Given the description of an element on the screen output the (x, y) to click on. 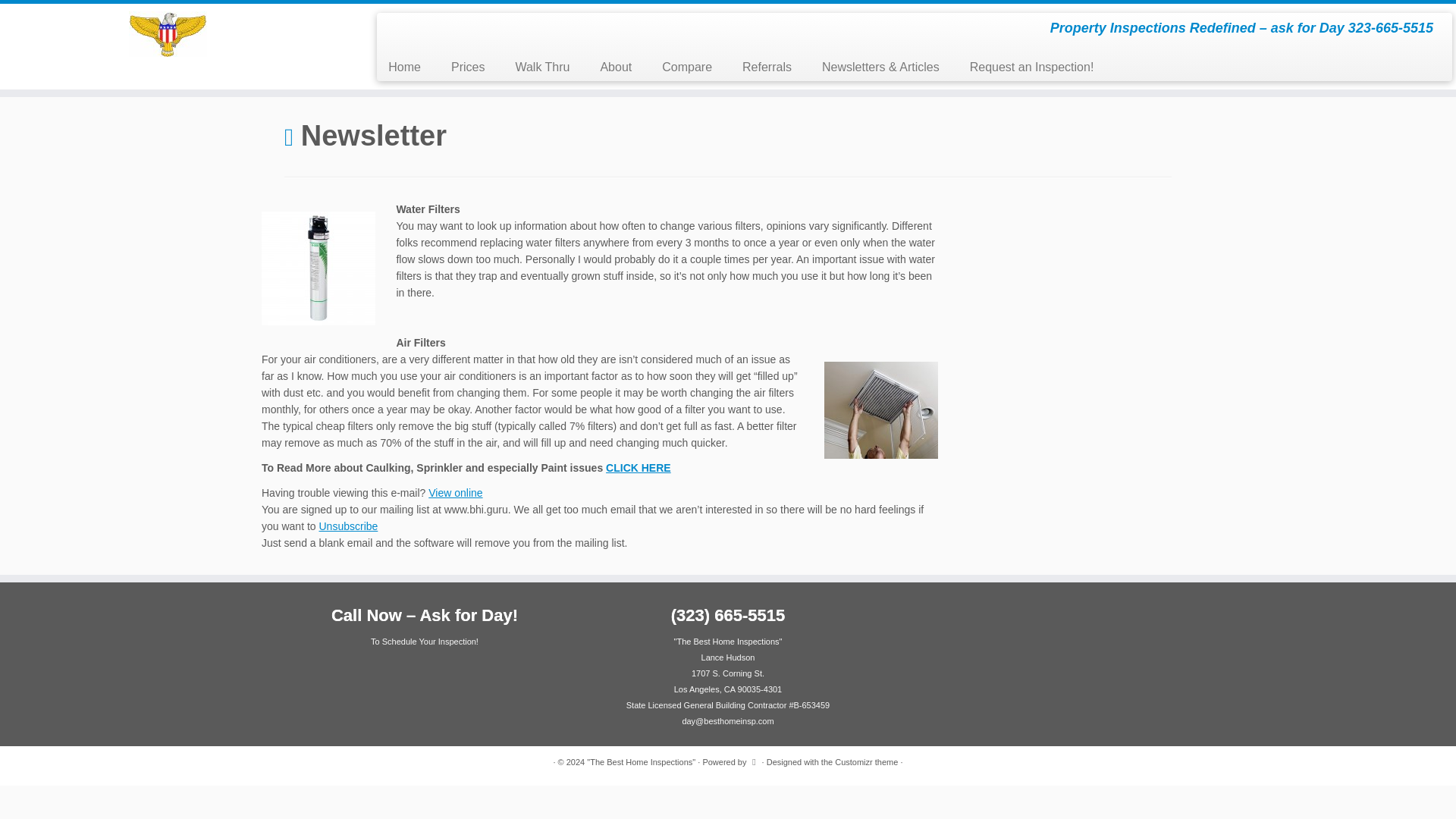
CLICK HERE (638, 467)
Home (409, 67)
Referrals (766, 67)
Walk Thru (542, 67)
Request an Inspection! (1024, 67)
View online (454, 492)
Unsubscribe (347, 526)
Compare (686, 67)
Prices (467, 67)
About (615, 67)
